Given the description of an element on the screen output the (x, y) to click on. 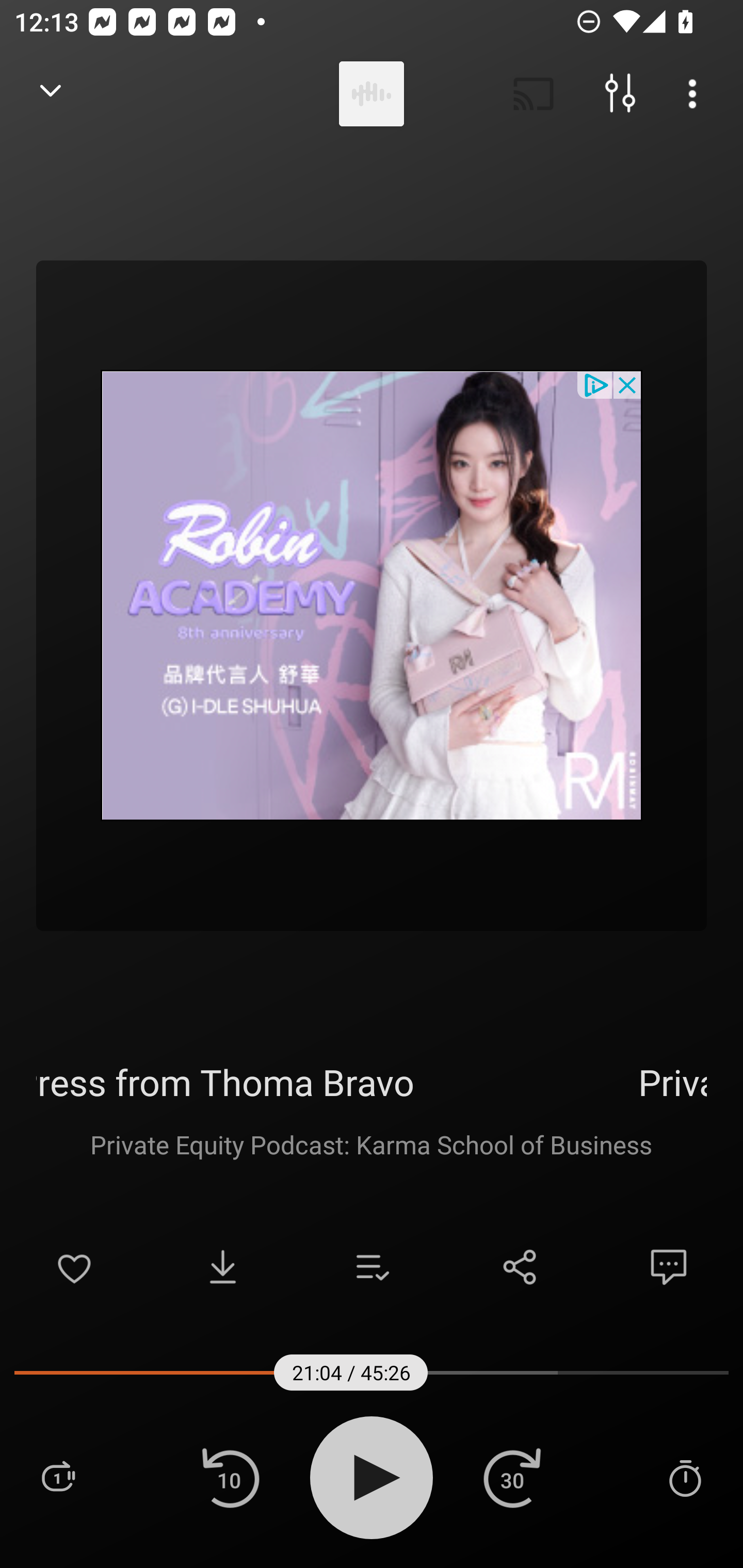
Cast. Disconnected (533, 93)
 Back (50, 94)
privacy_small (595, 384)
close_button (627, 384)
Private Equity Podcast: Karma School of Business (371, 1144)
Comments (668, 1266)
Add to Favorites (73, 1266)
Add to playlist (371, 1266)
Share (519, 1266)
 Playlist (57, 1477)
Sleep Timer  (684, 1477)
